Given the description of an element on the screen output the (x, y) to click on. 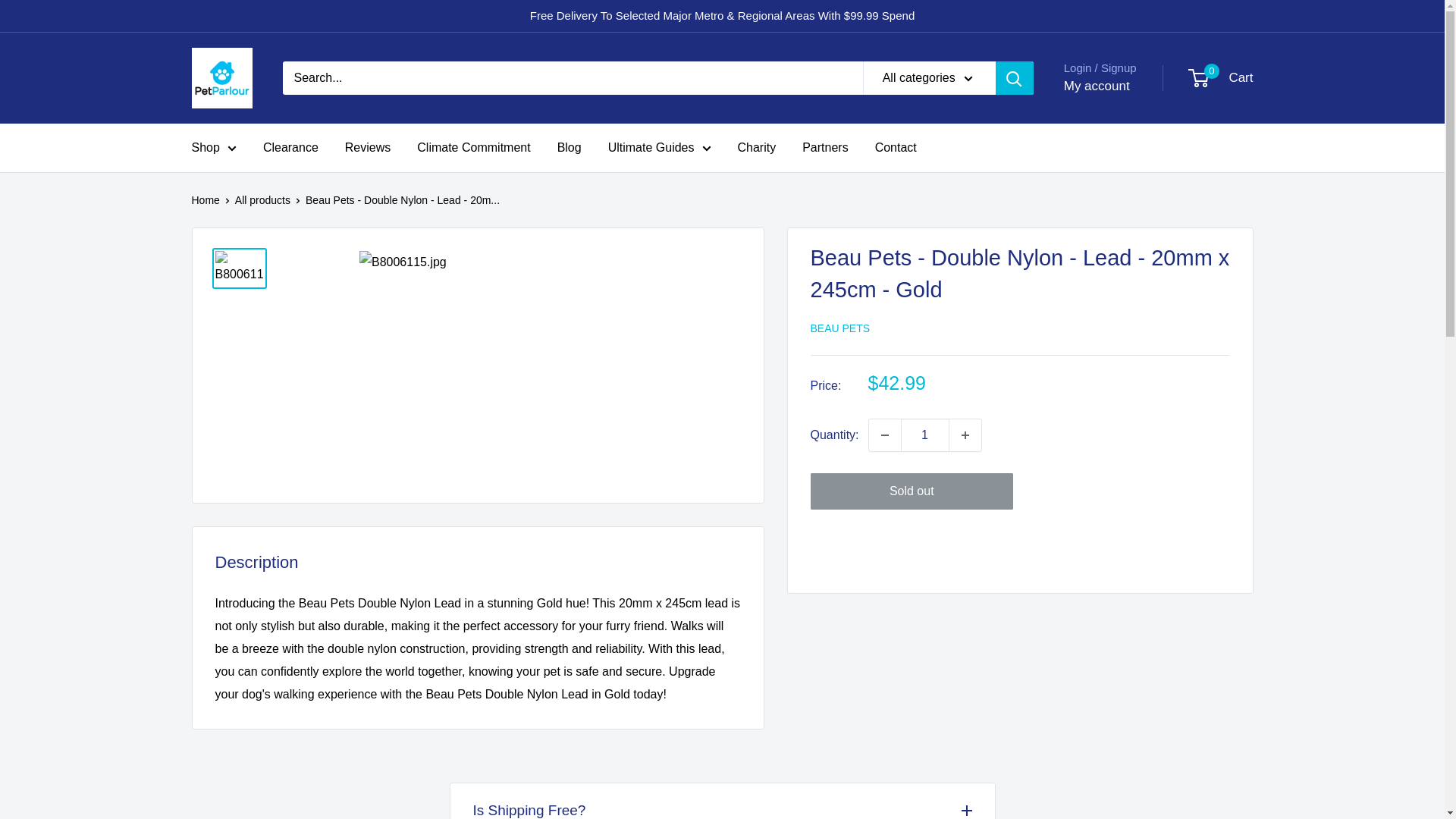
1 (925, 435)
Decrease quantity by 1 (885, 435)
Increase quantity by 1 (965, 435)
